Given the description of an element on the screen output the (x, y) to click on. 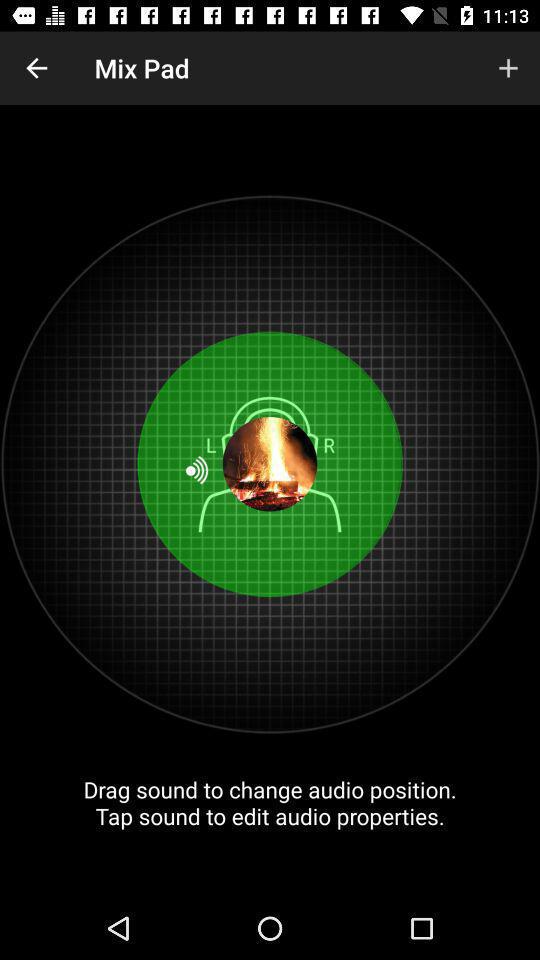
turn on the app next to mix pad item (508, 67)
